Given the description of an element on the screen output the (x, y) to click on. 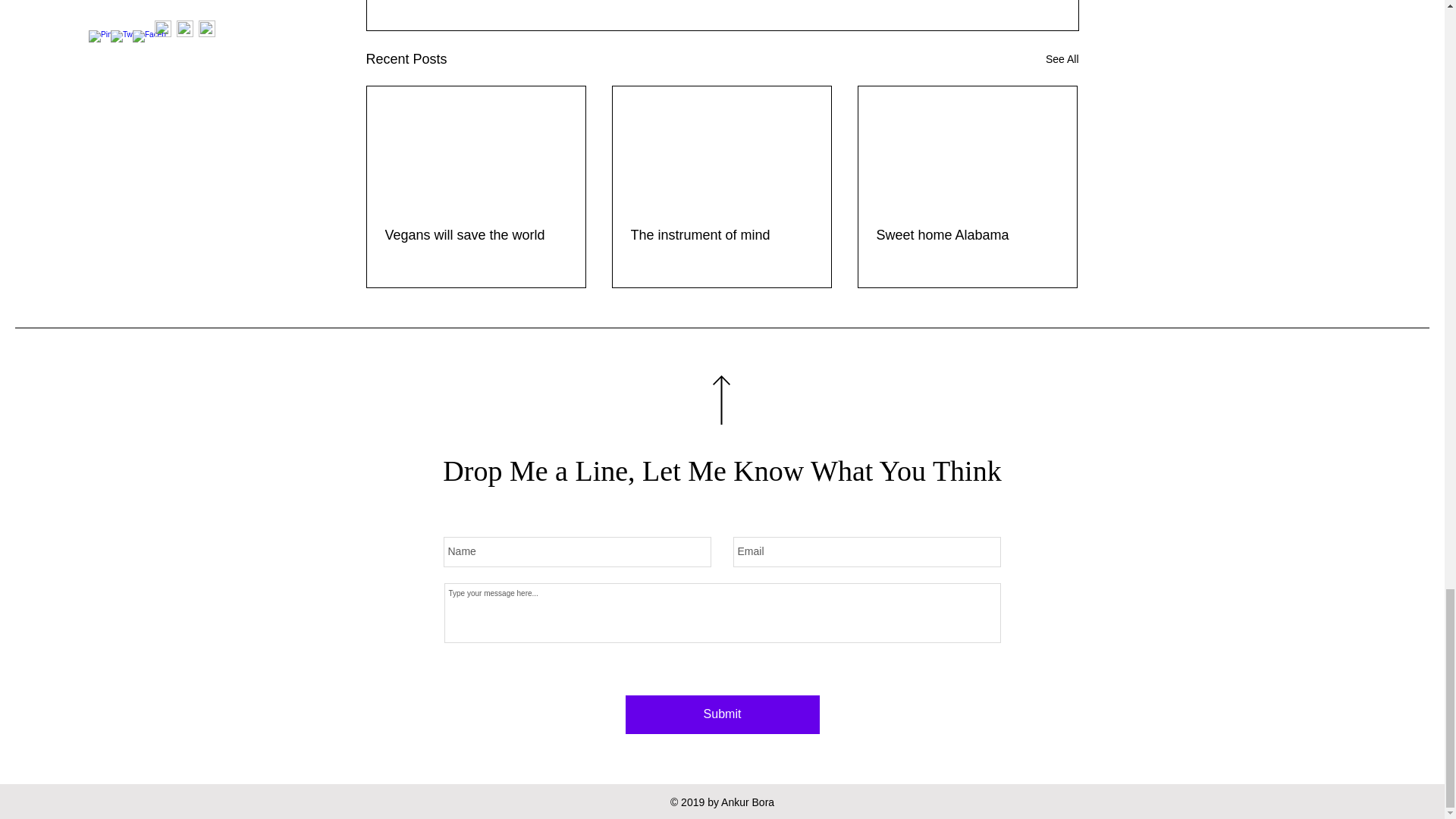
See All (1061, 59)
Vegans will save the world (476, 235)
Submit (721, 714)
The instrument of mind (721, 235)
Sweet home Alabama (967, 235)
